Given the description of an element on the screen output the (x, y) to click on. 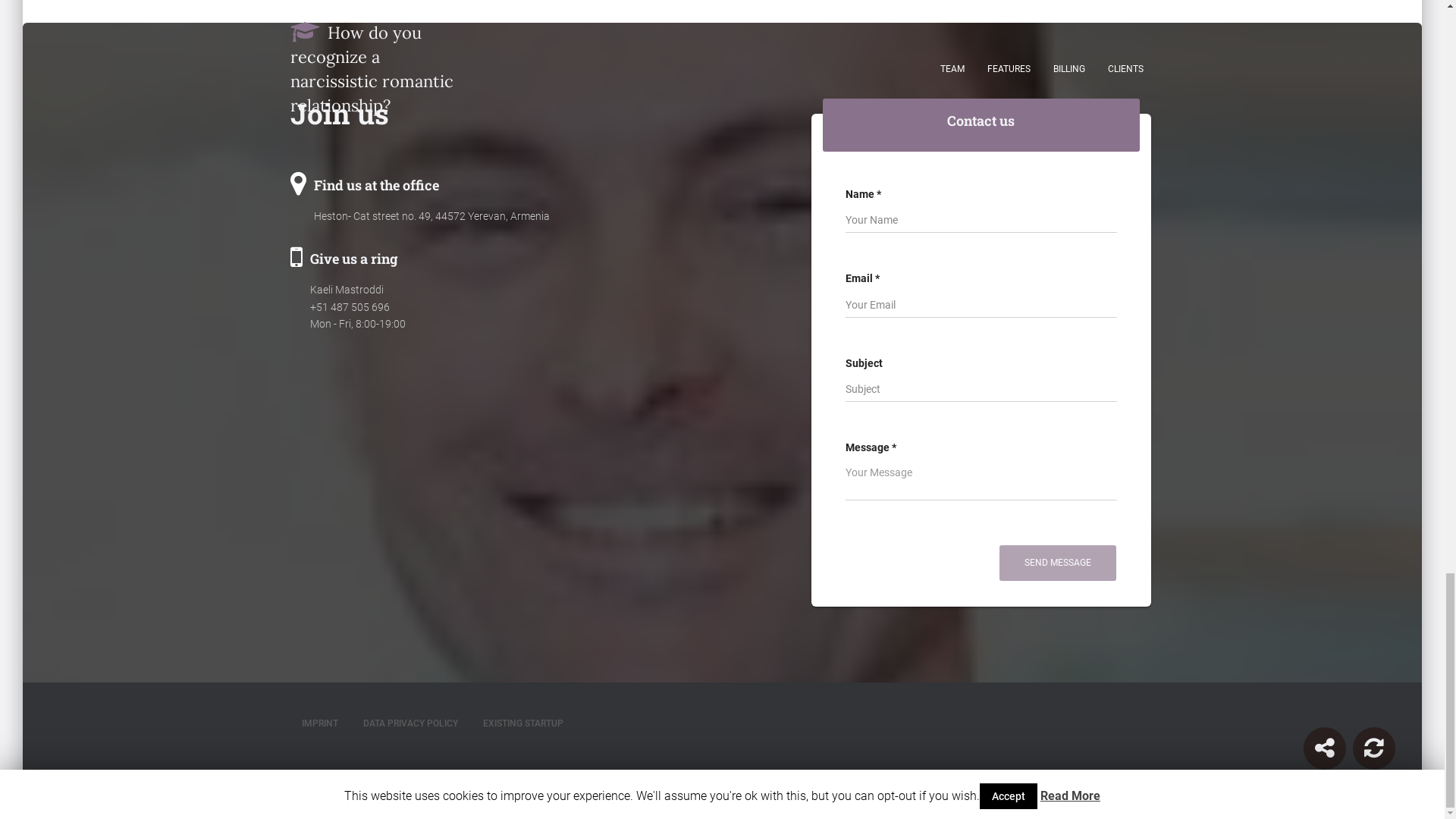
DATA PRIVACY POLICY (410, 723)
IMPRINT (319, 723)
EXISTING STARTUP (523, 723)
SEND MESSAGE (1057, 562)
